Given the description of an element on the screen output the (x, y) to click on. 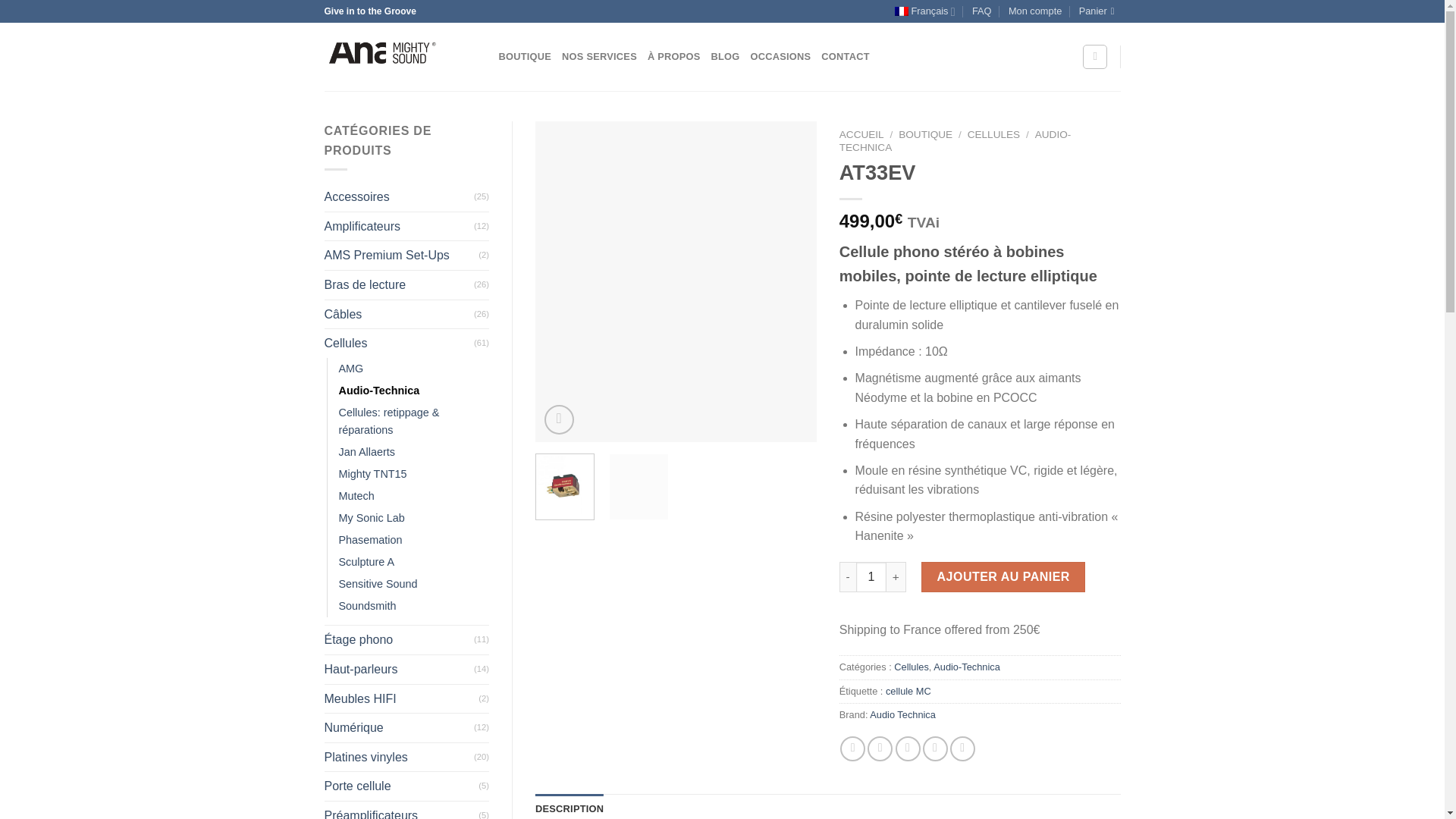
Amplificateurs (399, 226)
Partager sur Twitter (879, 748)
Accessoires (399, 196)
Panier (1099, 11)
Envoyer par mail (907, 748)
1 (871, 576)
CONTACT (845, 56)
AMS Premium Set-Ups (401, 255)
Panier (1099, 11)
OCCASIONS (780, 56)
